Given the description of an element on the screen output the (x, y) to click on. 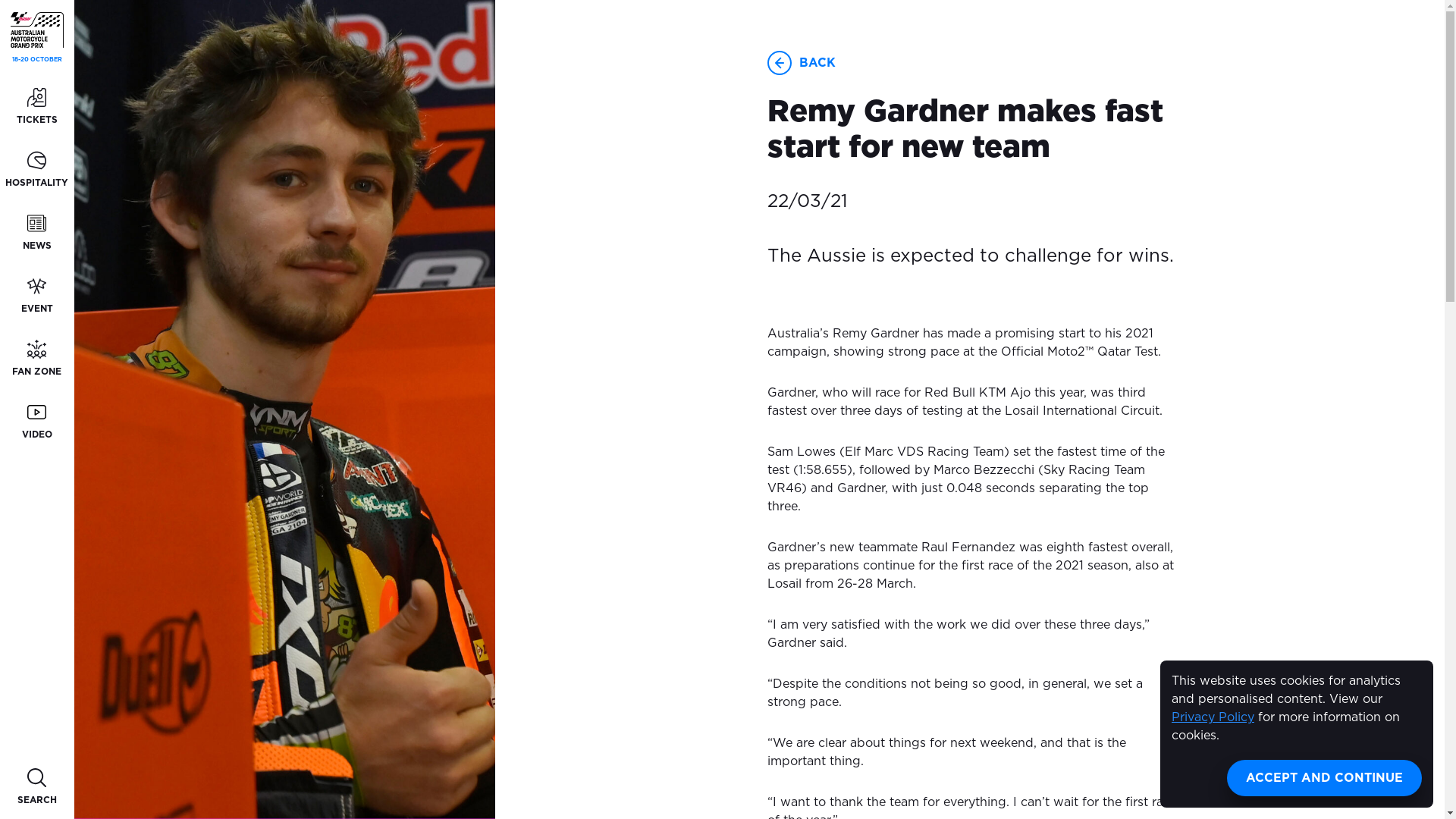
HOSPITALITY Element type: text (36, 169)
18-20 OCTOBER Element type: text (36, 38)
BACK Element type: text (816, 62)
EVENT Element type: text (36, 295)
VIDEO Element type: text (36, 421)
NEWS Element type: text (36, 232)
ACCEPT AND CONTINUE Element type: text (1323, 777)
Privacy Policy Element type: text (1212, 717)
TICKETS Element type: text (36, 106)
FAN ZONE Element type: text (36, 358)
